Given the description of an element on the screen output the (x, y) to click on. 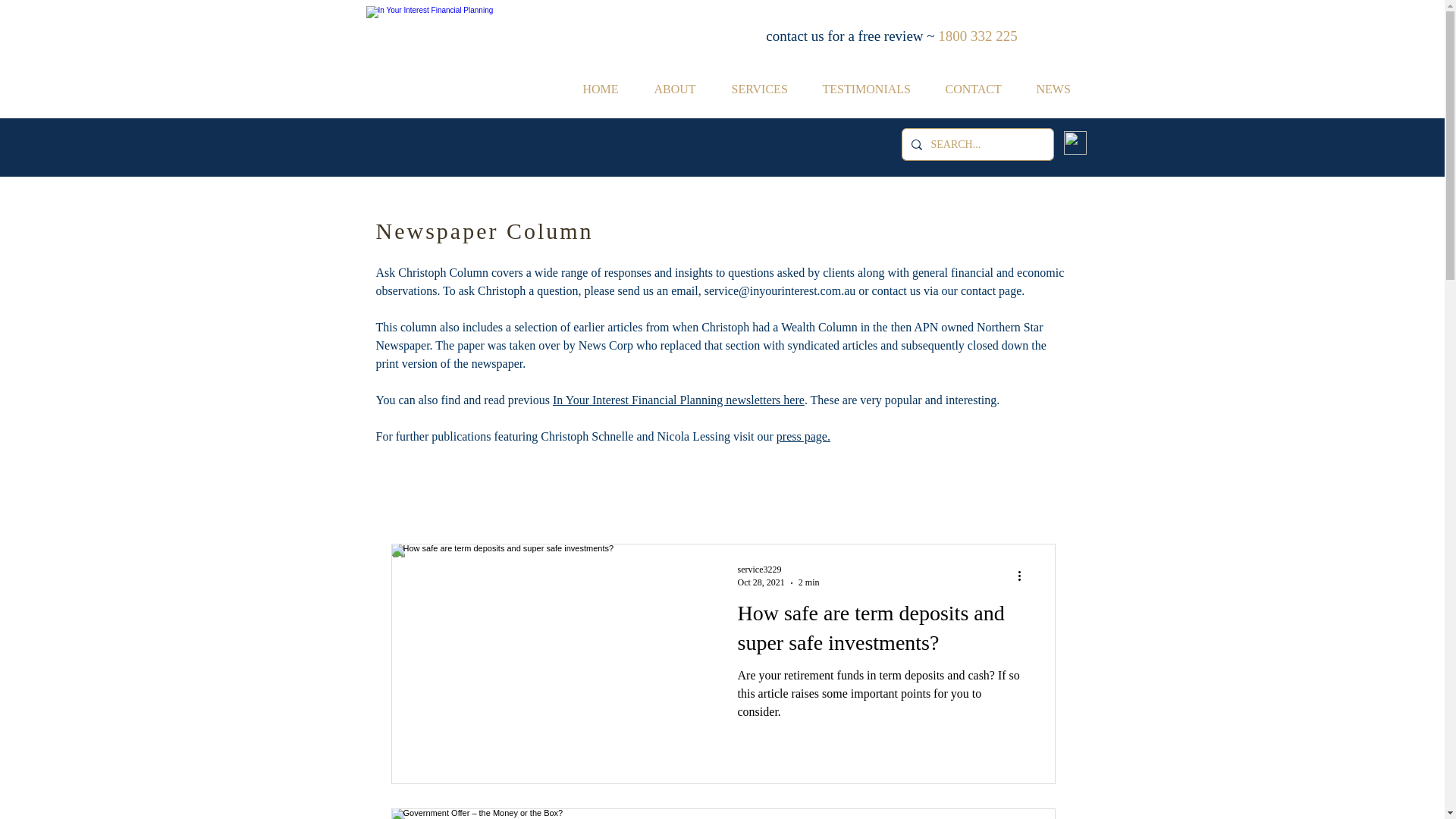
In Your Interest Financial Planning newsletters here Element type: text (678, 399)
contact us Element type: text (896, 290)
CONTACT Element type: text (979, 89)
HOME Element type: text (607, 89)
service@inyourinterest.com.au Element type: text (780, 290)
TESTIMONIALS Element type: text (872, 89)
1800 332 225 Element type: text (977, 35)
contact page Element type: text (990, 290)
ABOUT Element type: text (681, 89)
How safe are term deposits and super safe investments? Element type: text (881, 631)
Go To Facebook Page Element type: hover (1074, 142)
NEWS Element type: text (1059, 89)
press page Element type: text (801, 435)
free review Element type: text (890, 35)
